Given the description of an element on the screen output the (x, y) to click on. 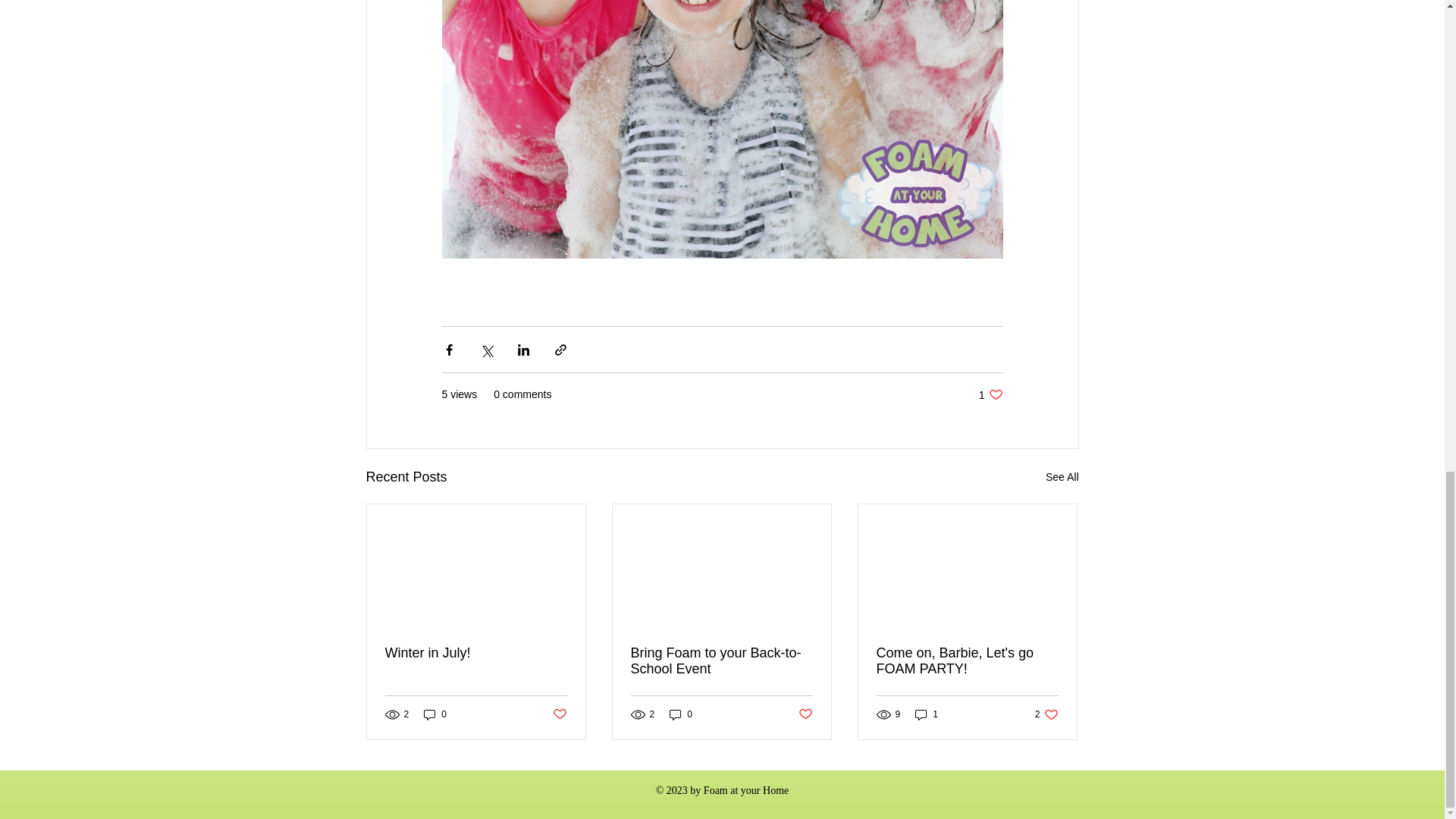
0 (435, 714)
Post not marked as liked (558, 714)
Post not marked as liked (990, 394)
See All (804, 714)
1 (1061, 477)
0 (926, 714)
Bring Foam to your Back-to-School Event (681, 714)
Come on, Barbie, Let's go FOAM PARTY! (721, 661)
Winter in July! (967, 661)
